Given the description of an element on the screen output the (x, y) to click on. 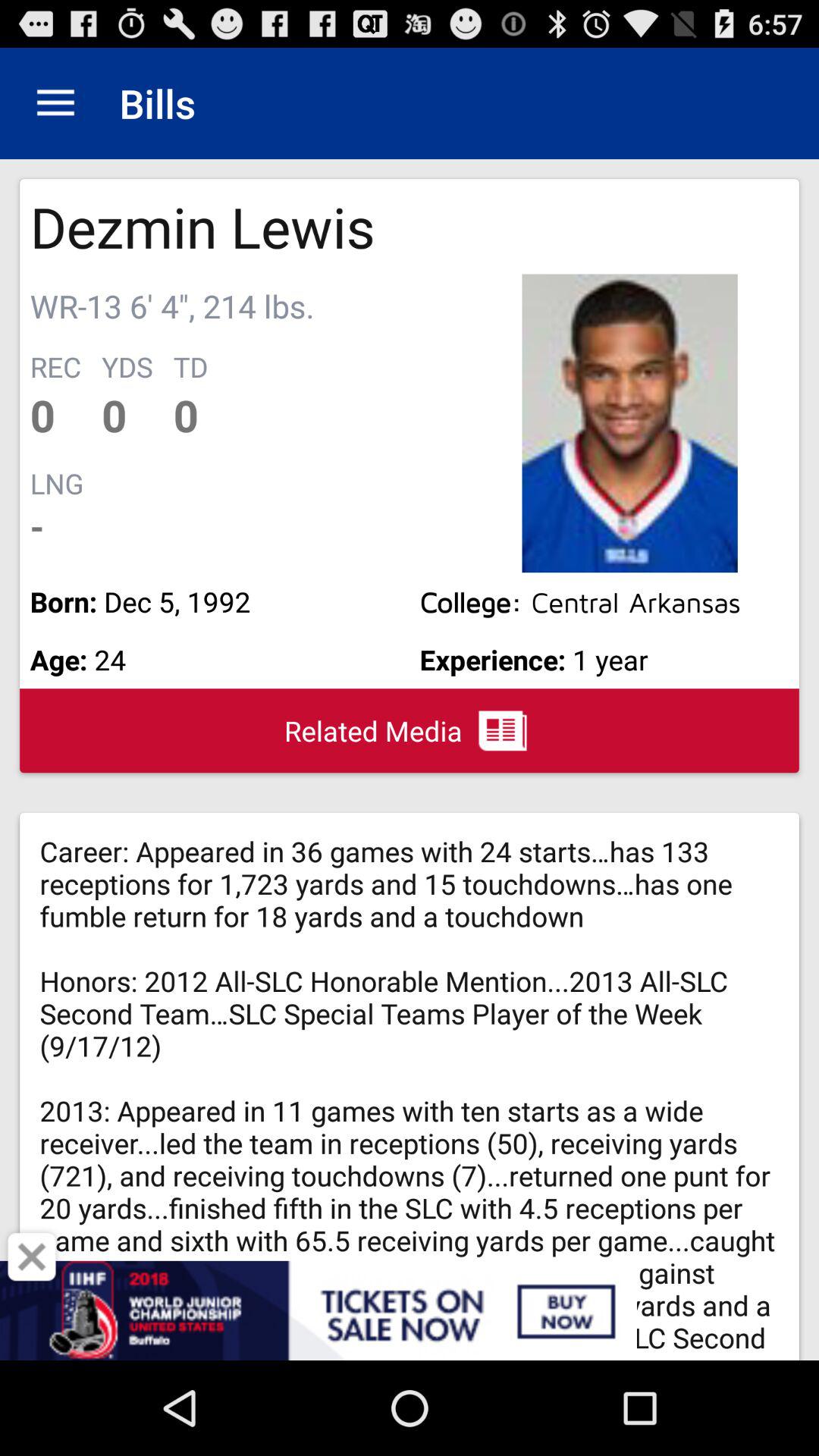
tap item below age: 24 item (31, 1256)
